Given the description of an element on the screen output the (x, y) to click on. 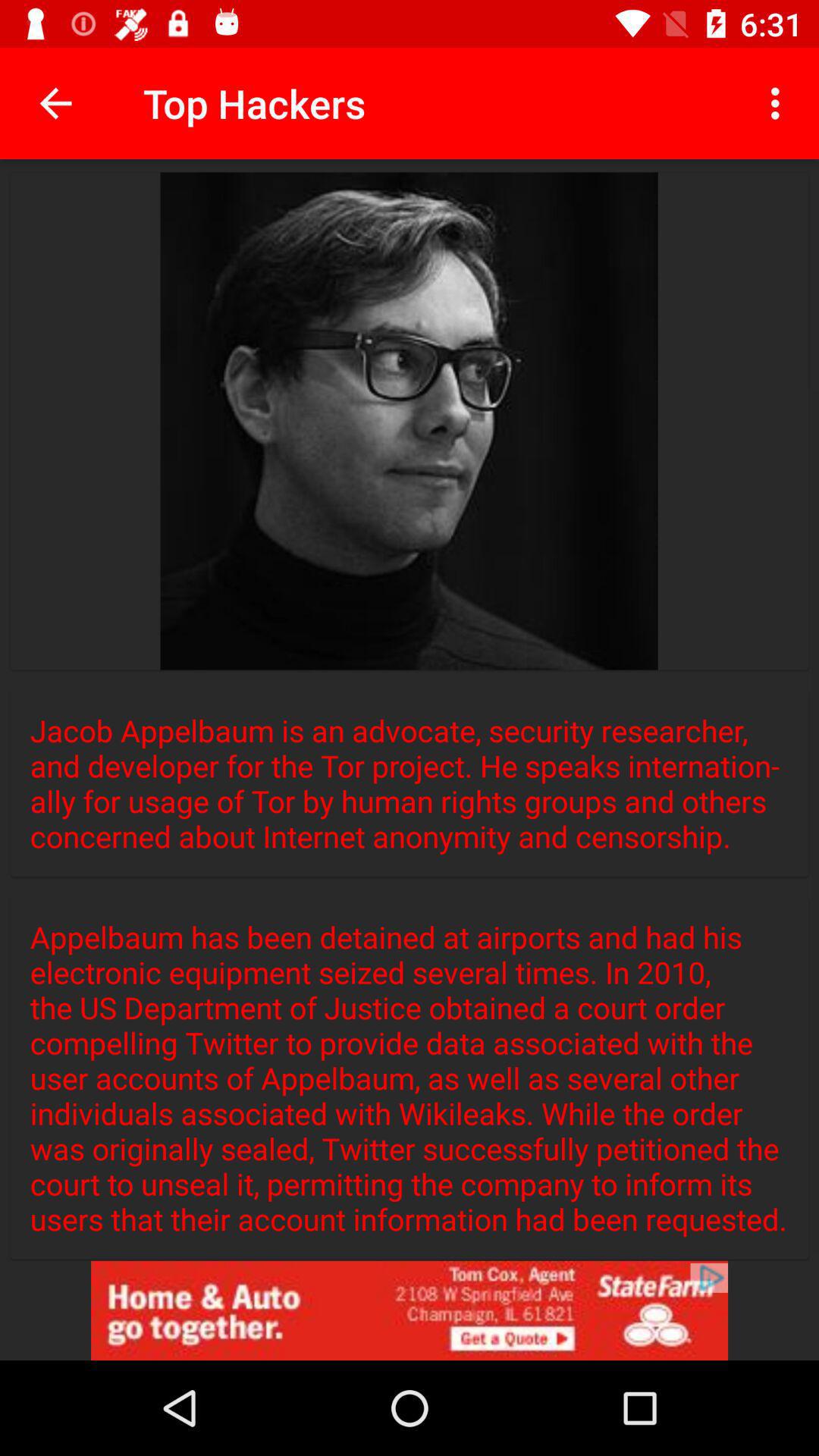
link to advertisement (409, 1310)
